Given the description of an element on the screen output the (x, y) to click on. 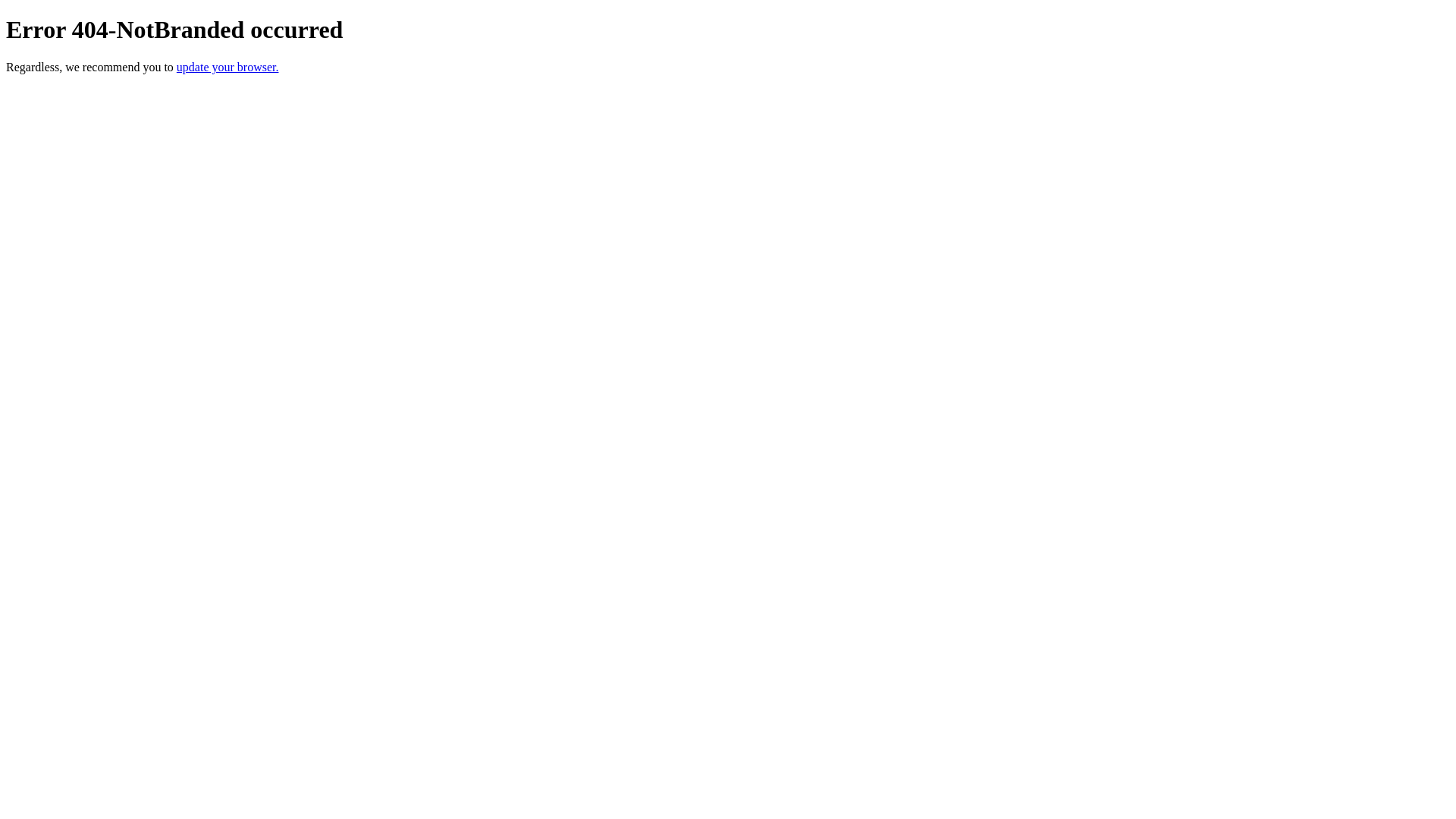
update your browser. Element type: text (227, 66)
